Given the description of an element on the screen output the (x, y) to click on. 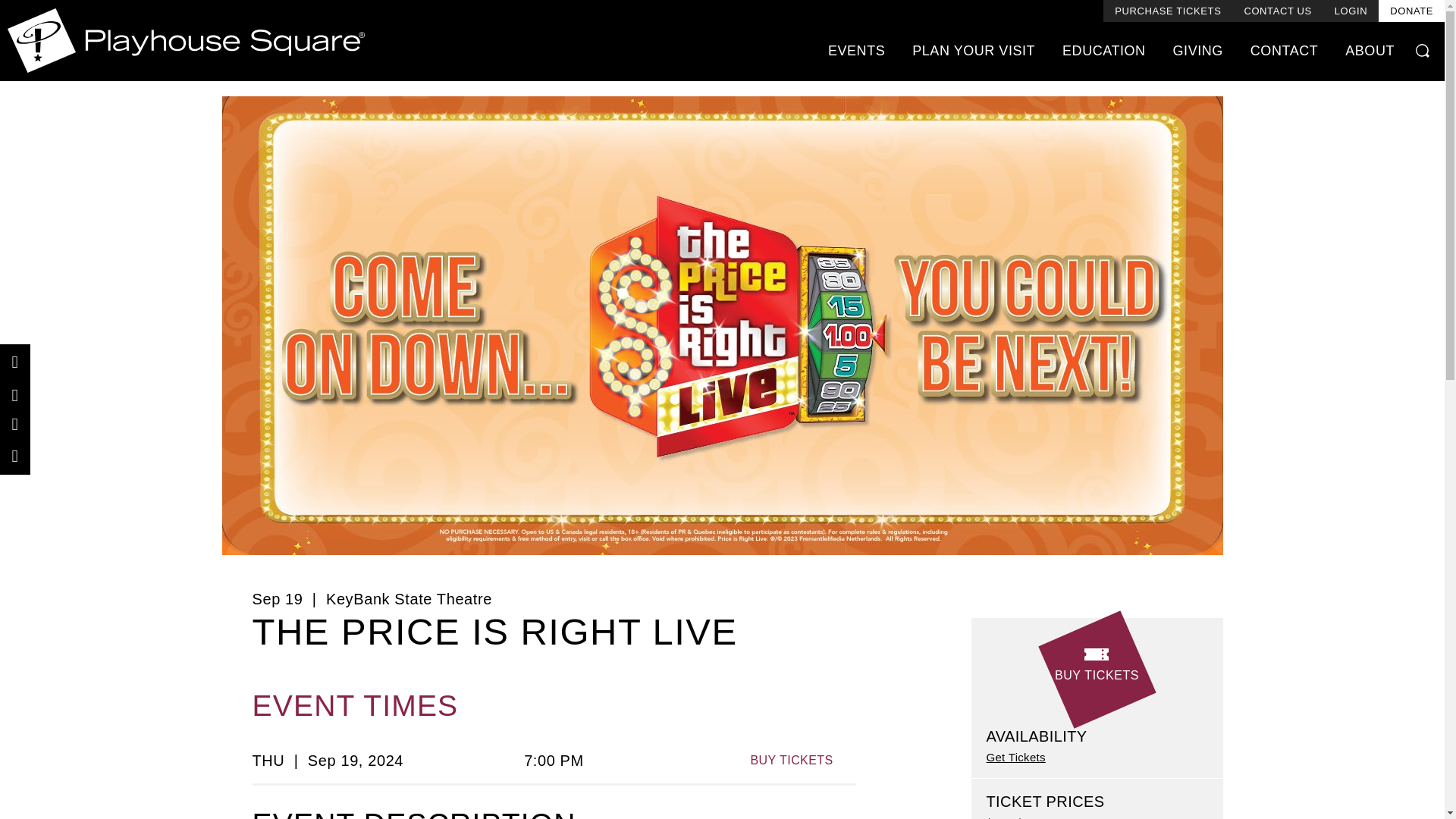
EVENTS (855, 50)
PLAN YOUR VISIT (973, 50)
LOGIN (1350, 11)
CONTACT US (1276, 11)
Playhouse Square (186, 40)
PURCHASE TICKETS (1167, 11)
Playhouse Square (186, 40)
